Given the description of an element on the screen output the (x, y) to click on. 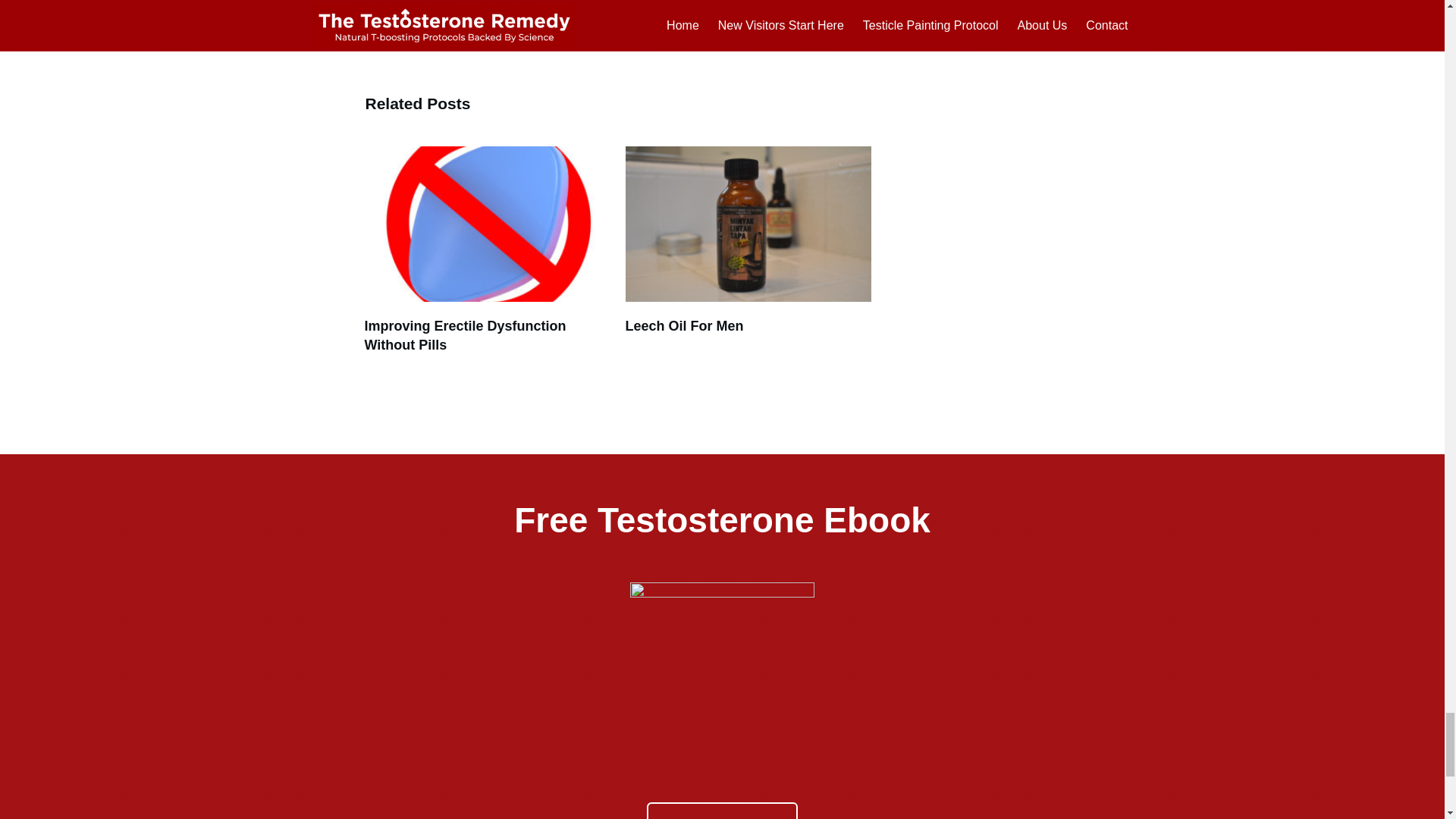
Improving Erectile Dysfunction Without Pills (487, 250)
Free-Testosterone-Ebook (721, 684)
21 Alpha Male Traits (429, 20)
Obesity and Testosterone (708, 20)
Obesity and Testosterone (708, 20)
21 Alpha Male Traits (487, 22)
Obesity and Testosterone (747, 22)
Improving Erectile Dysfunction Without Pills (465, 335)
Leech Oil For Men (683, 325)
Improving Erectile Dysfunction Without Pills (465, 335)
21 Alpha Male Traits (429, 20)
